Given the description of an element on the screen output the (x, y) to click on. 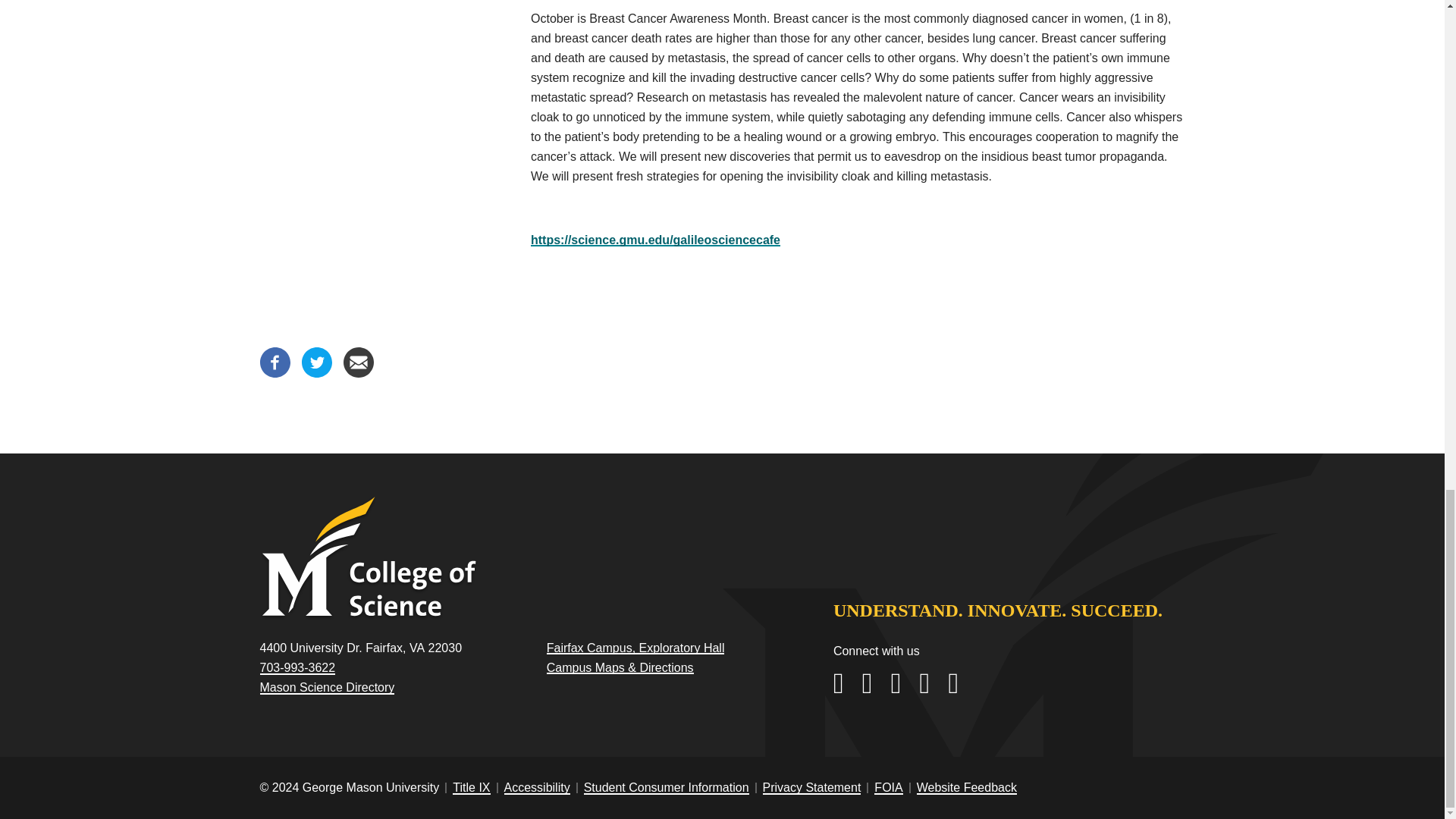
Fairfax Campus, Exploratory Hall (636, 647)
Facebook (274, 373)
Email (357, 373)
703-993-3622 (296, 667)
Twitter (316, 373)
Mason Science Directory (326, 687)
